Given the description of an element on the screen output the (x, y) to click on. 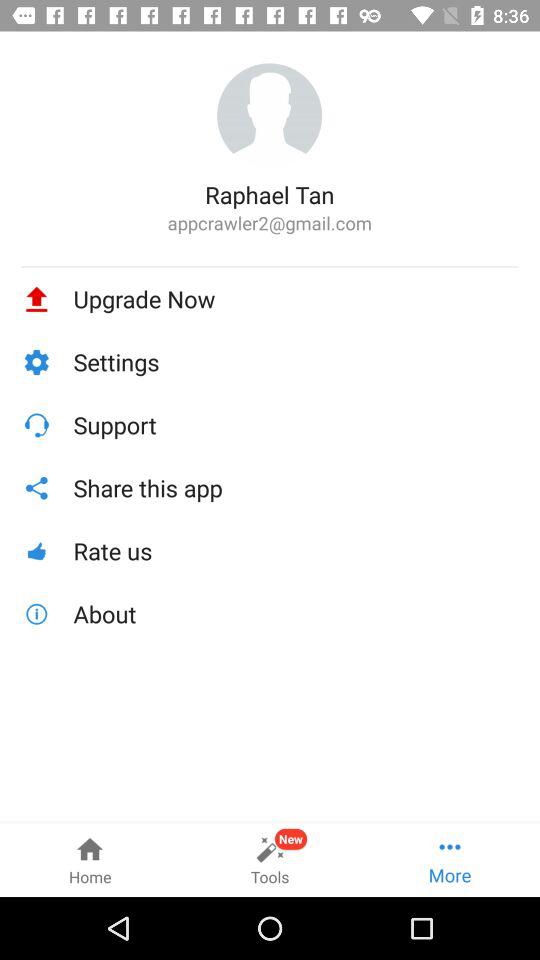
scroll until the support item (296, 424)
